Given the description of an element on the screen output the (x, y) to click on. 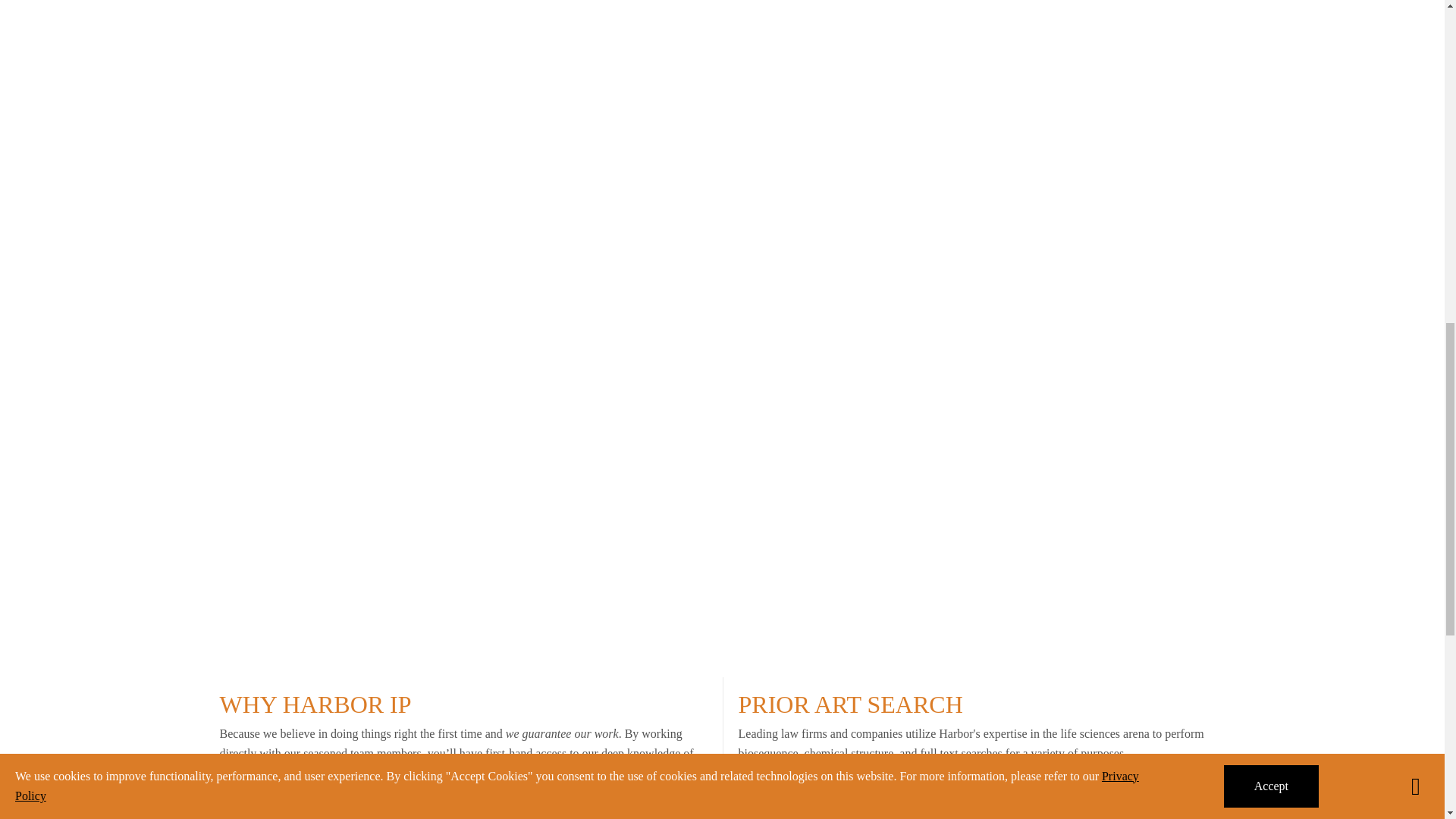
Prior Art Search (976, 748)
Why Harbor IP (463, 748)
Learn More (797, 800)
